Given the description of an element on the screen output the (x, y) to click on. 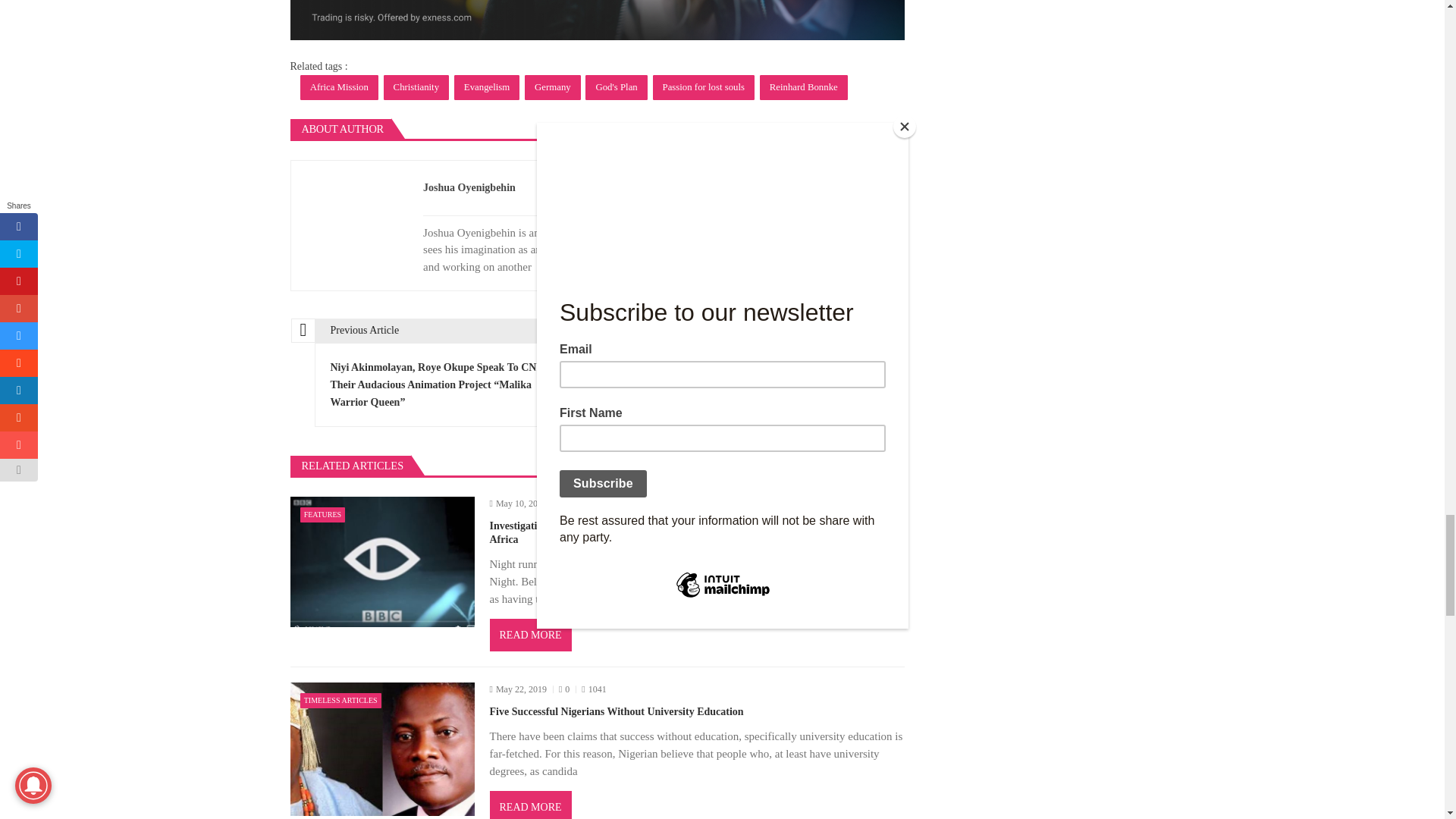
Twitter (876, 187)
Five Successful Nigerians Without University Education (381, 748)
Facebook (821, 187)
